Given the description of an element on the screen output the (x, y) to click on. 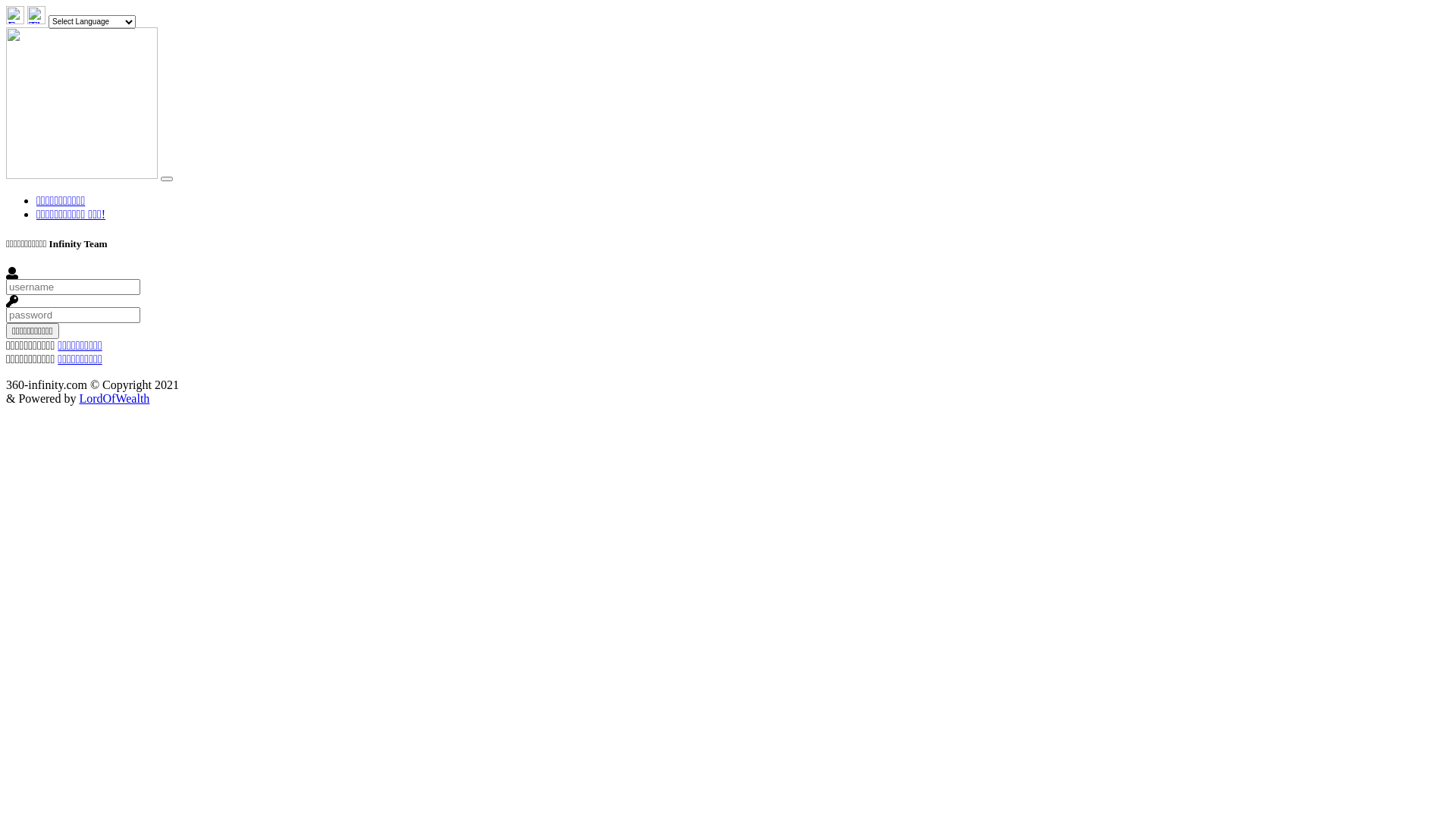
LordOfWealth Element type: text (113, 398)
English Element type: hover (15, 19)
Thai Element type: hover (36, 19)
